Given the description of an element on the screen output the (x, y) to click on. 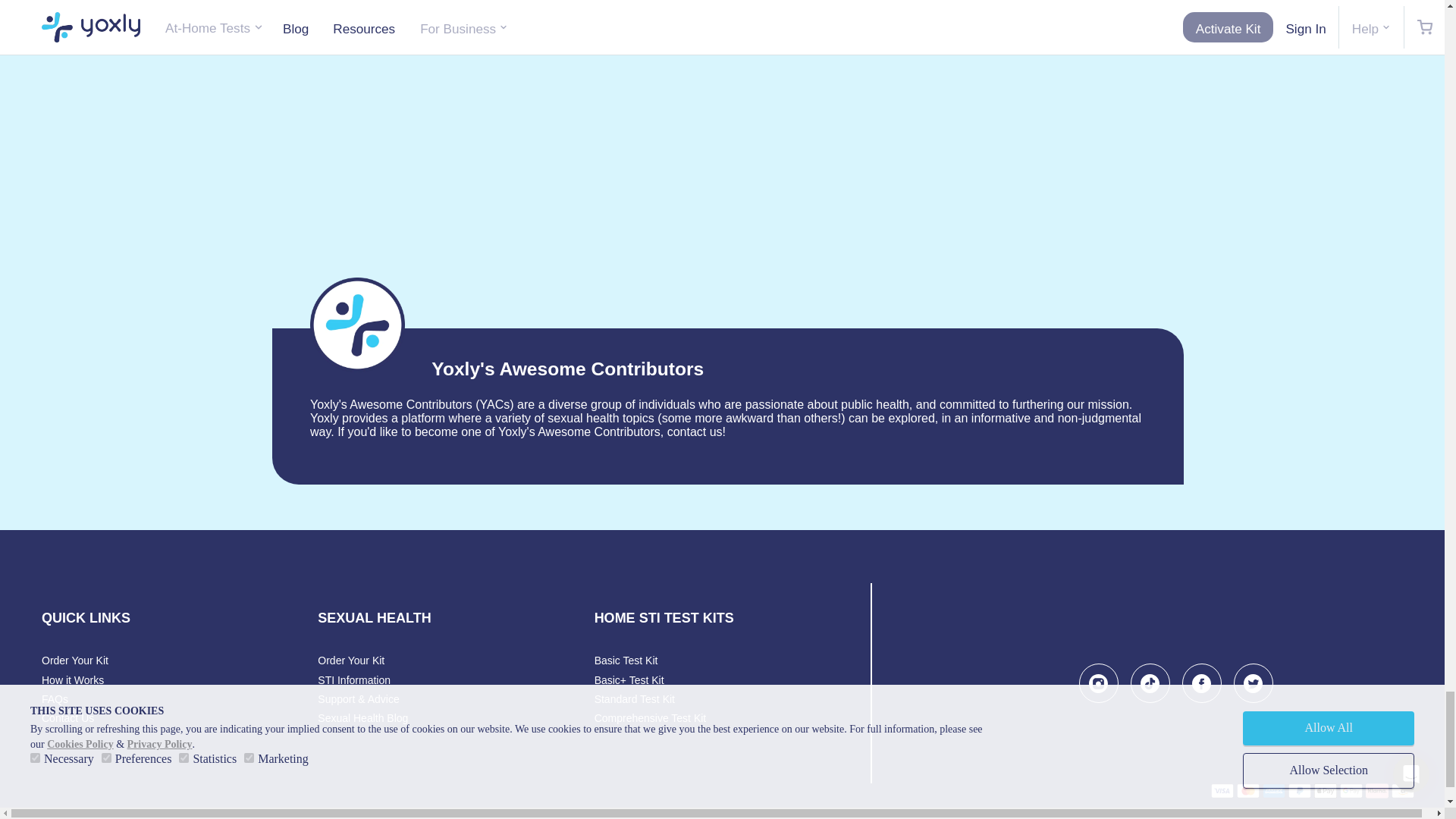
Google Pay (1350, 790)
FAQs (55, 698)
Apple Pay (1325, 790)
PayPal (1299, 790)
How it Works (72, 680)
American Express (1273, 790)
Order Your Kit (74, 660)
Klarna (1377, 790)
Visa (1222, 790)
Amazon (1402, 790)
